Given the description of an element on the screen output the (x, y) to click on. 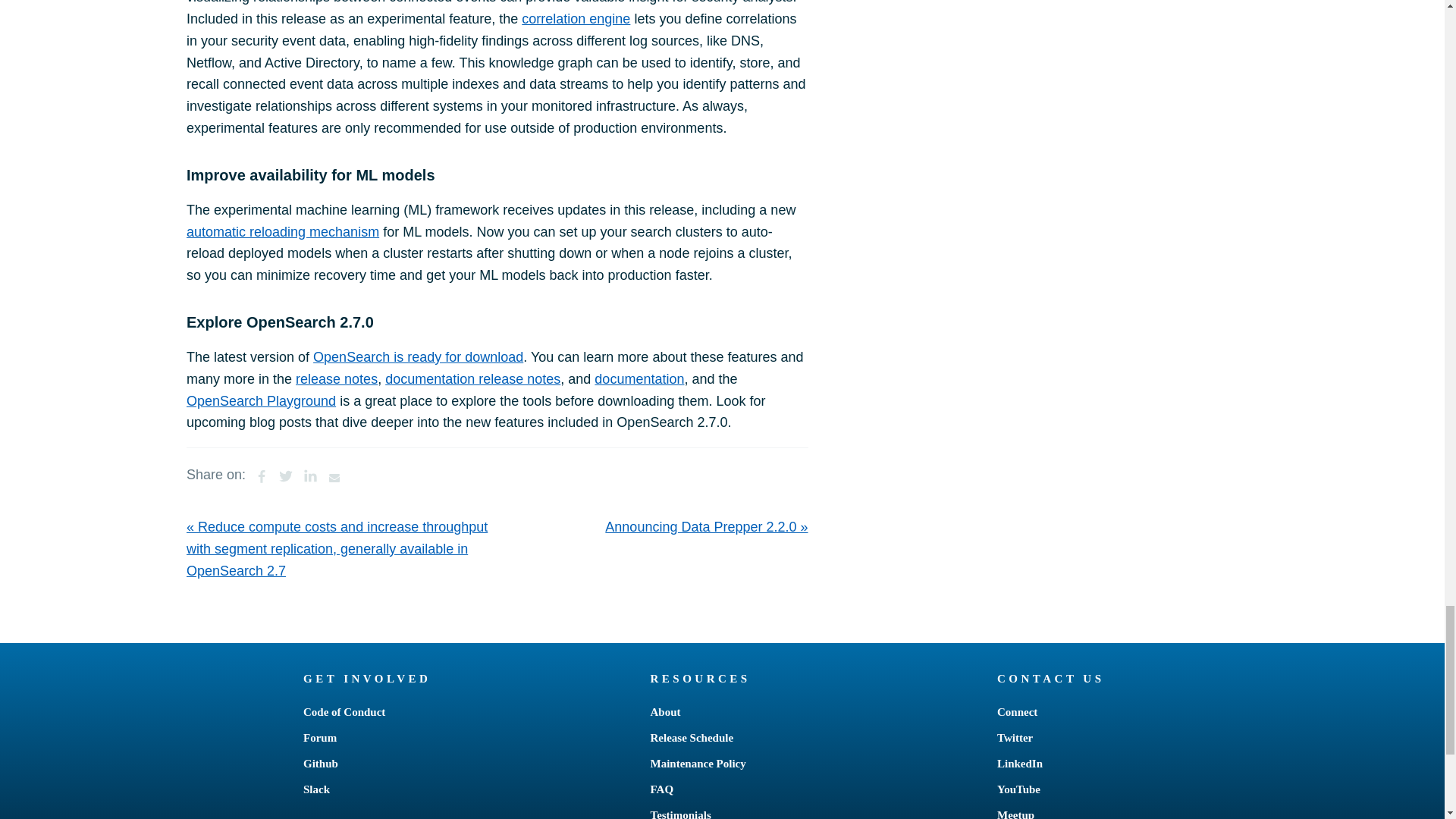
Share this on Facebook (260, 474)
Share this through Email (333, 474)
Share this on Twitter (285, 474)
